Given the description of an element on the screen output the (x, y) to click on. 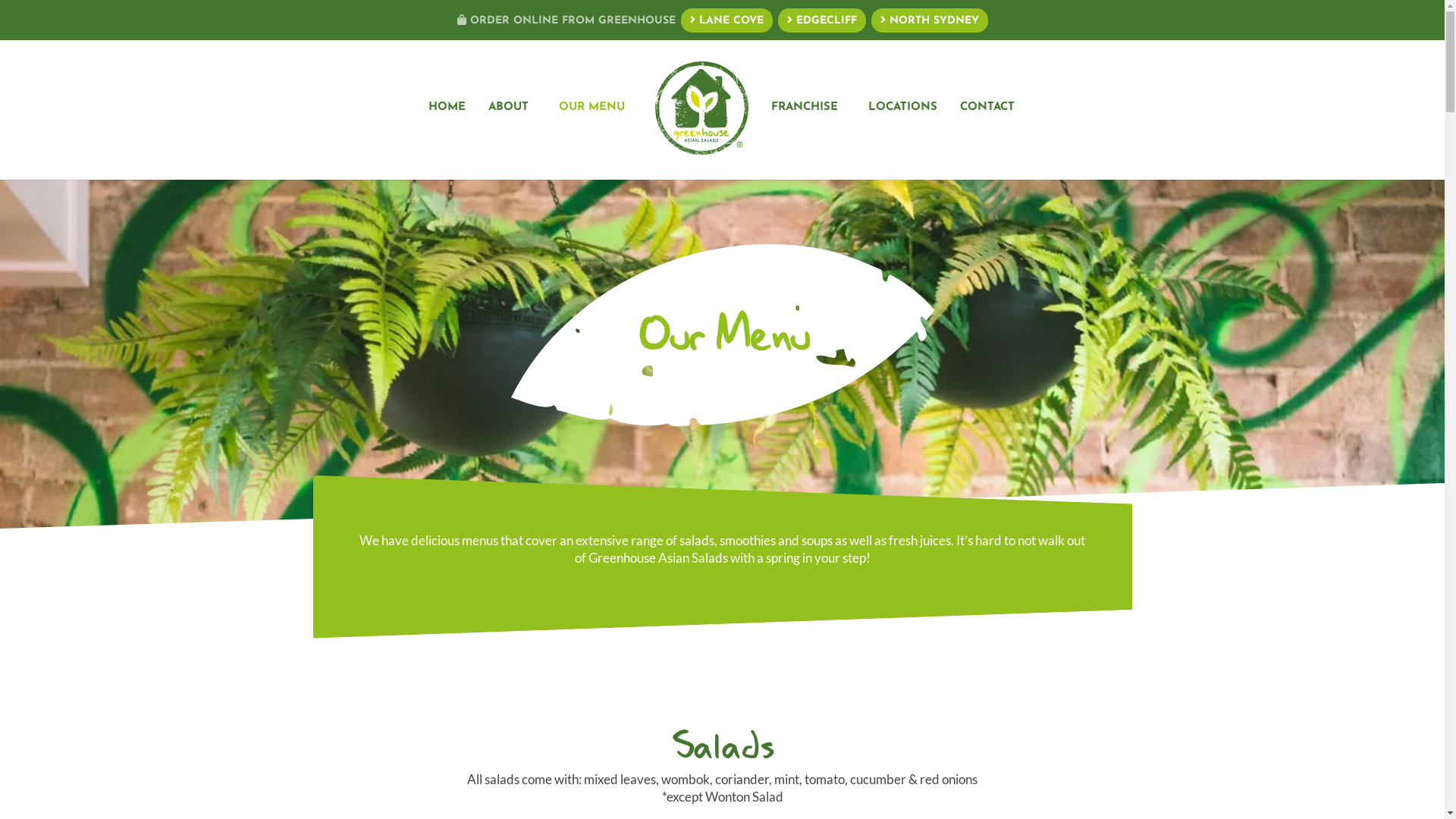
LOCATIONS Element type: text (902, 140)
LANE COVE Element type: text (726, 19)
OUR MENU Element type: text (591, 140)
ABOUT Element type: text (508, 140)
NORTH SYDNEY Element type: text (928, 19)
EDGECLIFF Element type: text (822, 19)
CONTACT Element type: text (987, 140)
HOME Element type: text (446, 140)
FRANCHISE Element type: text (804, 140)
ORDER ONLINE FROM GREENHOUSE Element type: text (565, 23)
